Given the description of an element on the screen output the (x, y) to click on. 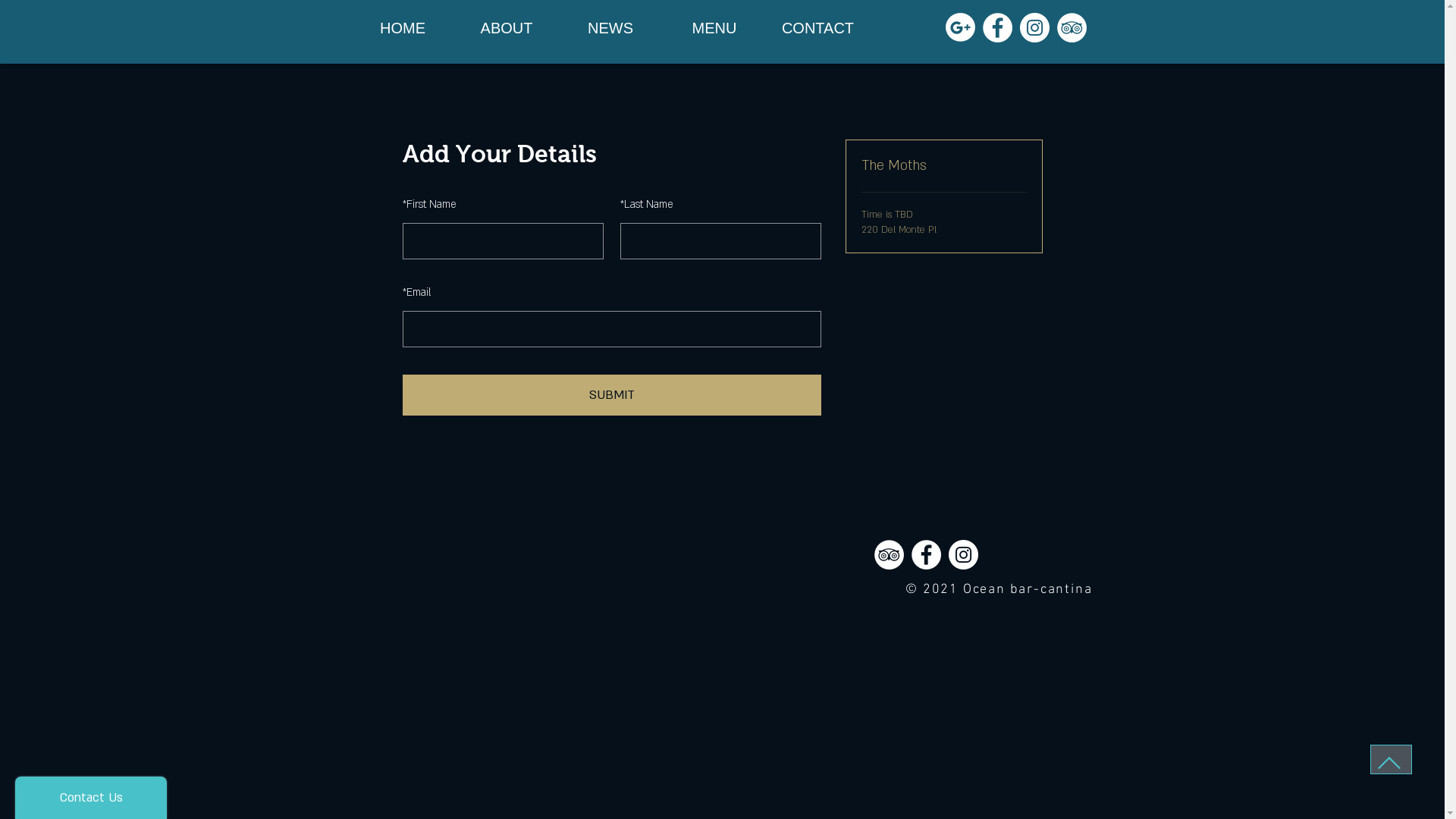
HOME Element type: text (402, 28)
NEWS Element type: text (610, 28)
ABOUT Element type: text (506, 28)
SUBMIT Element type: text (611, 394)
MENU Element type: text (714, 28)
CONTACT Element type: text (817, 28)
